Given the description of an element on the screen output the (x, y) to click on. 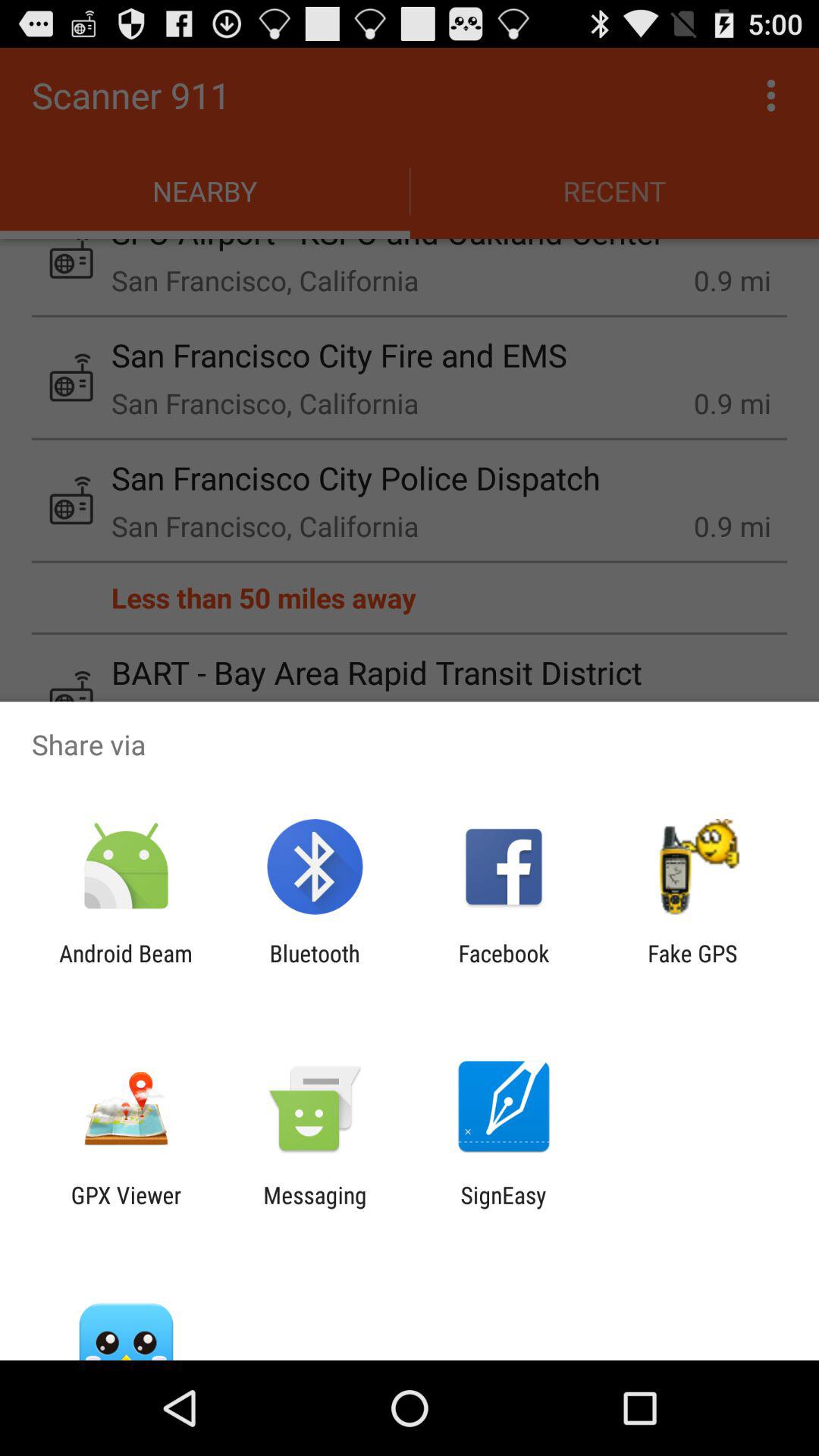
launch app to the right of the gpx viewer (314, 1208)
